Given the description of an element on the screen output the (x, y) to click on. 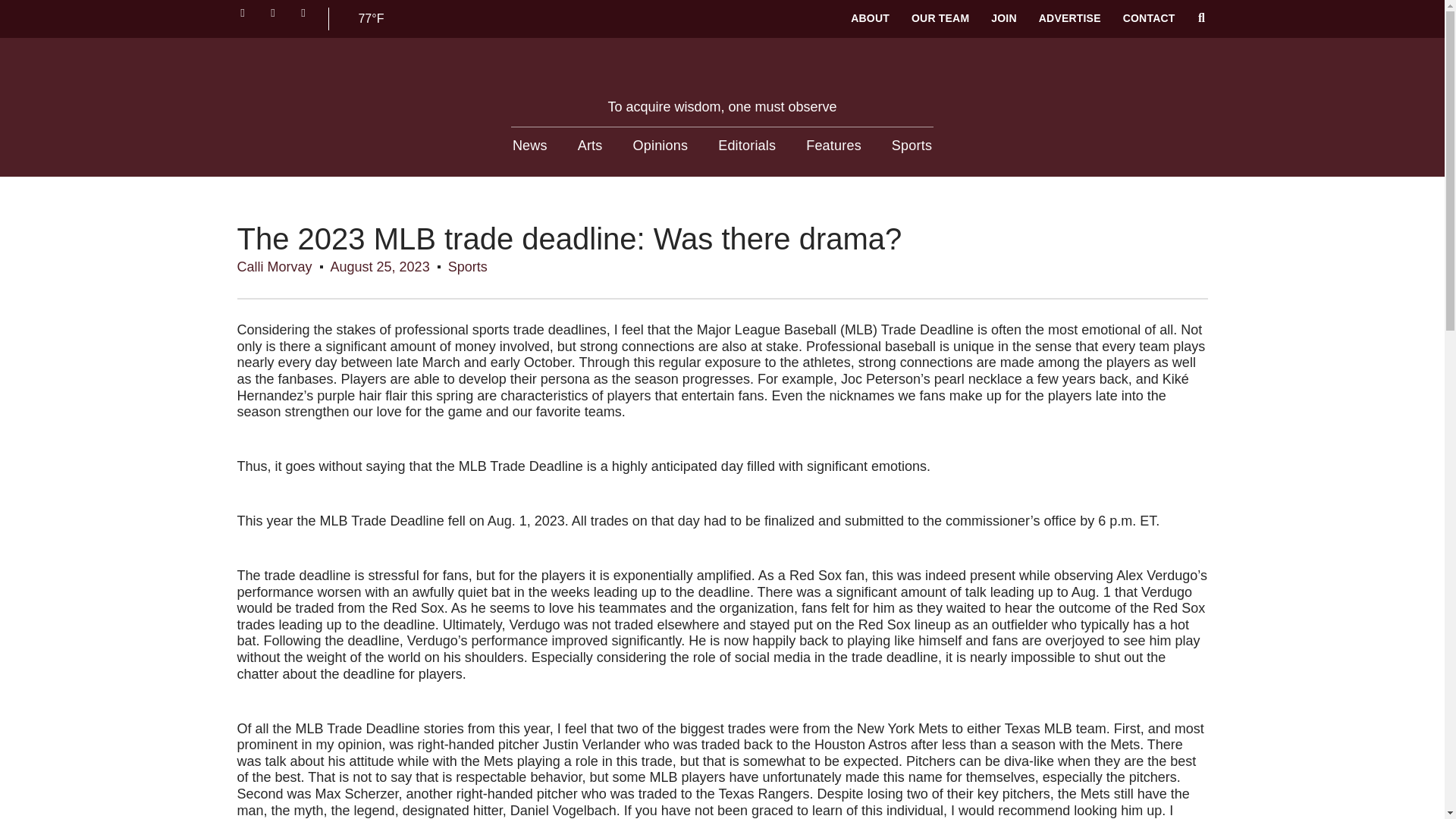
Temp (370, 18)
ADVERTISE (1069, 18)
OUR TEAM (940, 18)
ABOUT (869, 18)
Arts (590, 145)
CONTACT (1148, 18)
Sports (911, 145)
Features (833, 145)
Sports (467, 267)
Opinions (660, 145)
News (529, 145)
Editorials (746, 145)
Calli Morvay (273, 267)
JOIN (1003, 18)
August 25, 2023 (379, 267)
